Given the description of an element on the screen output the (x, y) to click on. 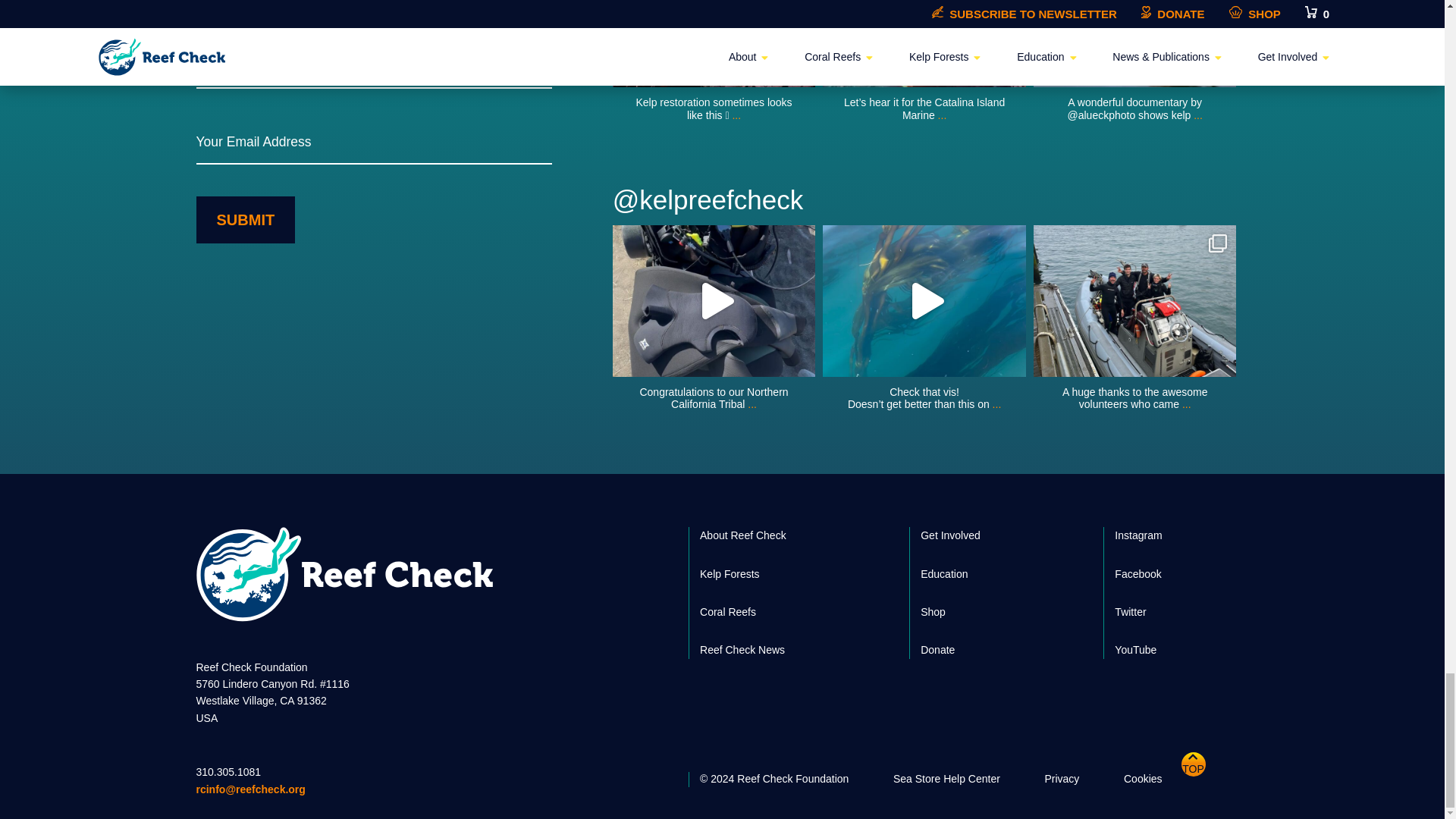
TOP (1205, 774)
